Given the description of an element on the screen output the (x, y) to click on. 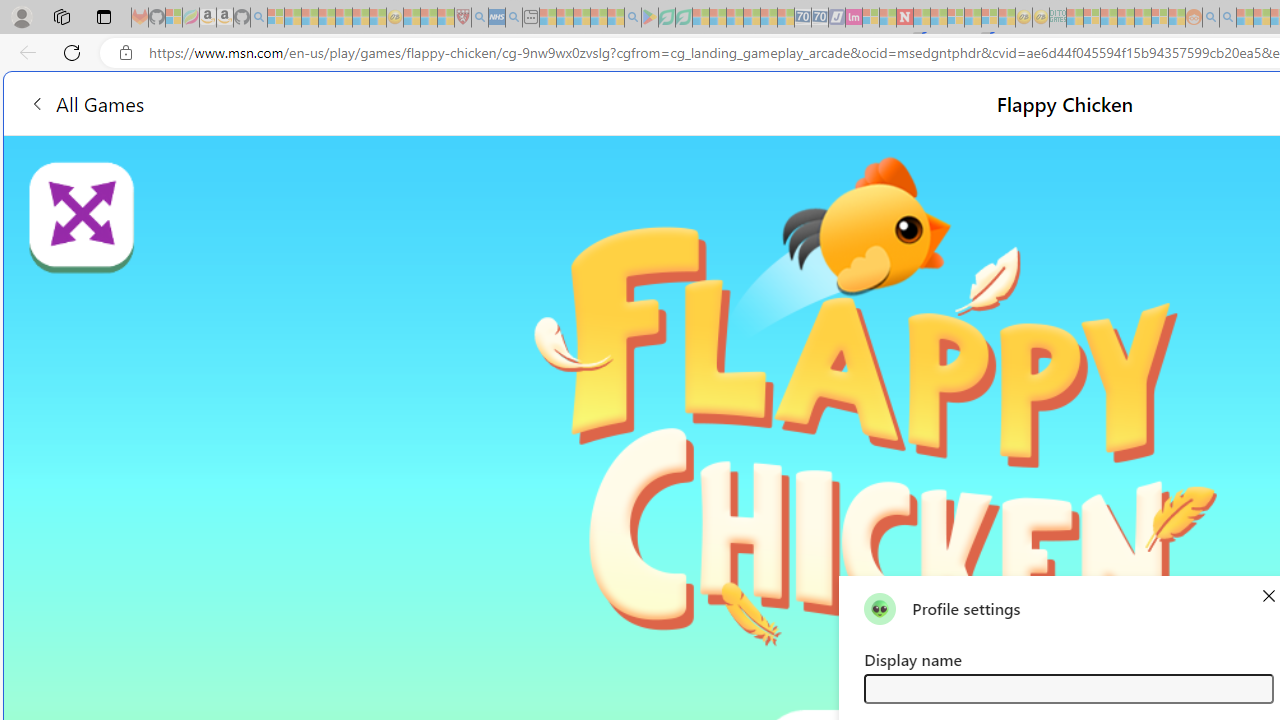
Local - MSN - Sleeping (445, 17)
All Games (86, 102)
Expert Portfolios - Sleeping (1125, 17)
utah sues federal government - Search - Sleeping (513, 17)
MSNBC - MSN - Sleeping (1074, 17)
Bluey: Let's Play! - Apps on Google Play - Sleeping (649, 17)
